Given the description of an element on the screen output the (x, y) to click on. 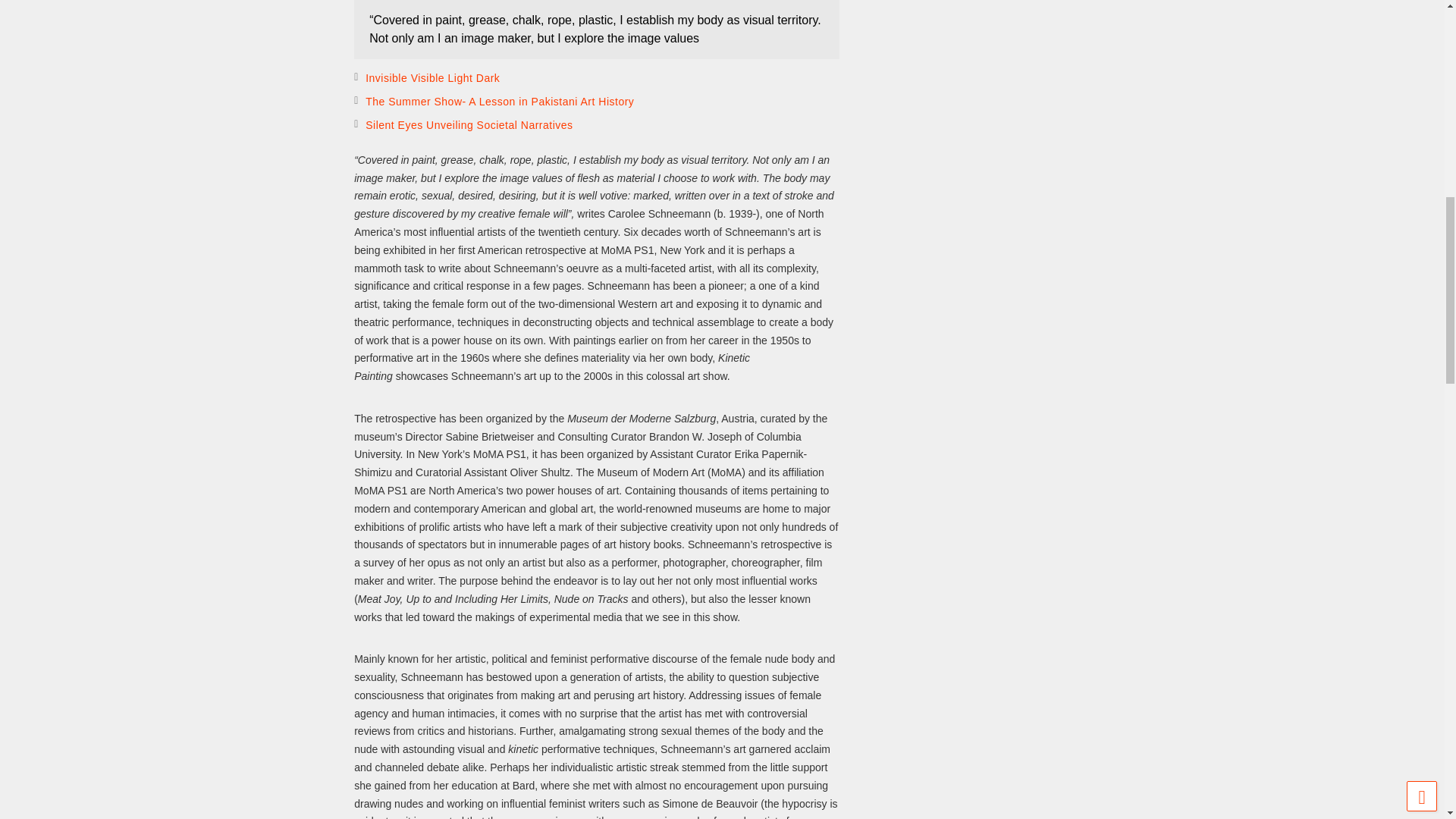
Silent Eyes Unveiling Societal Narratives (468, 124)
Invisible Visible Light Dark (432, 78)
Invisible Visible Light Dark (432, 78)
The Summer Show- A Lesson in Pakistani Art History (499, 101)
Silent Eyes Unveiling Societal Narratives (468, 124)
The Summer Show- A Lesson in Pakistani Art History (499, 101)
